Given the description of an element on the screen output the (x, y) to click on. 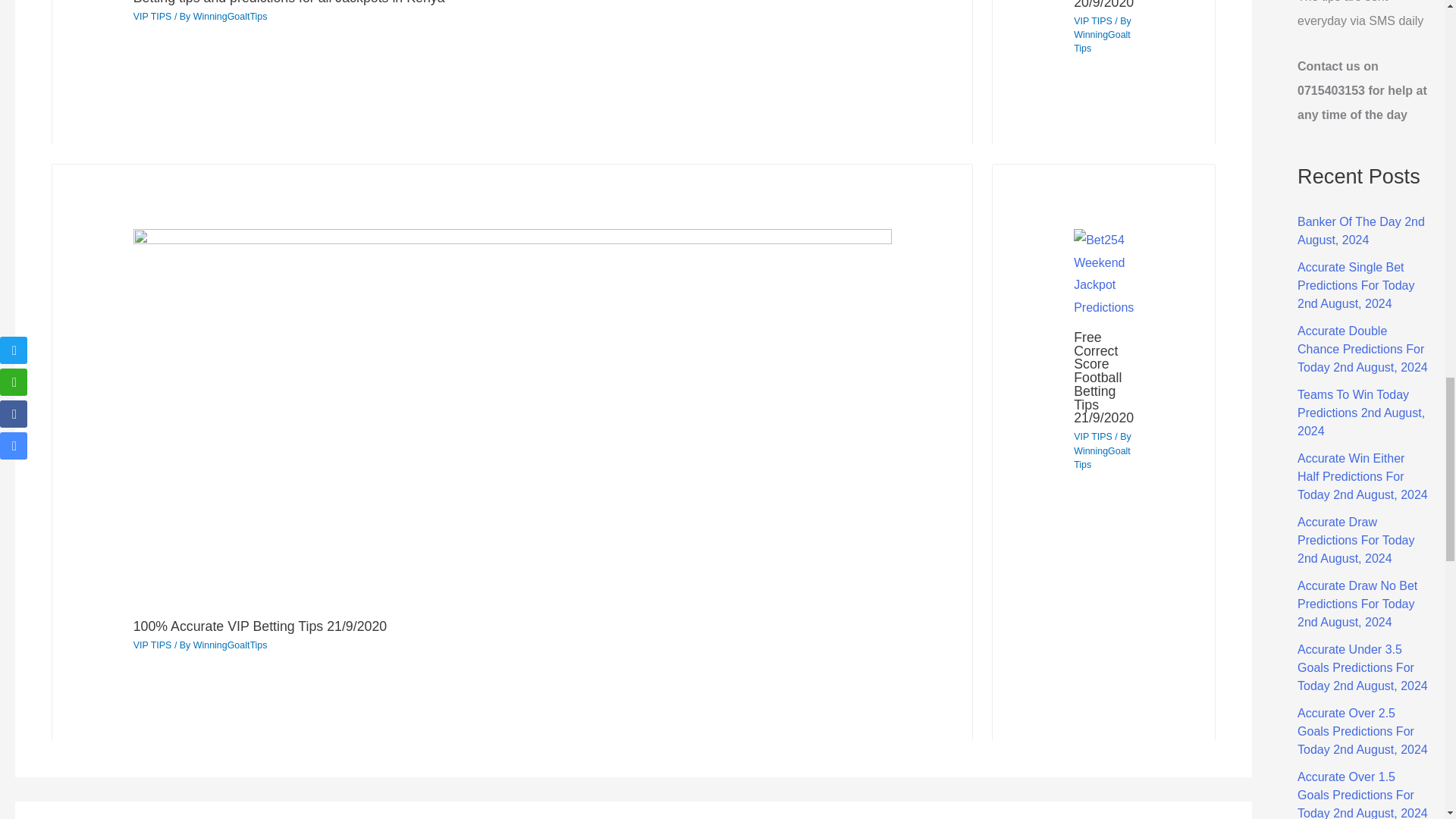
View all posts by WinningGoaltTips (230, 16)
View all posts by WinningGoaltTips (230, 644)
View all posts by WinningGoaltTips (1102, 457)
View all posts by WinningGoaltTips (1102, 41)
